Given the description of an element on the screen output the (x, y) to click on. 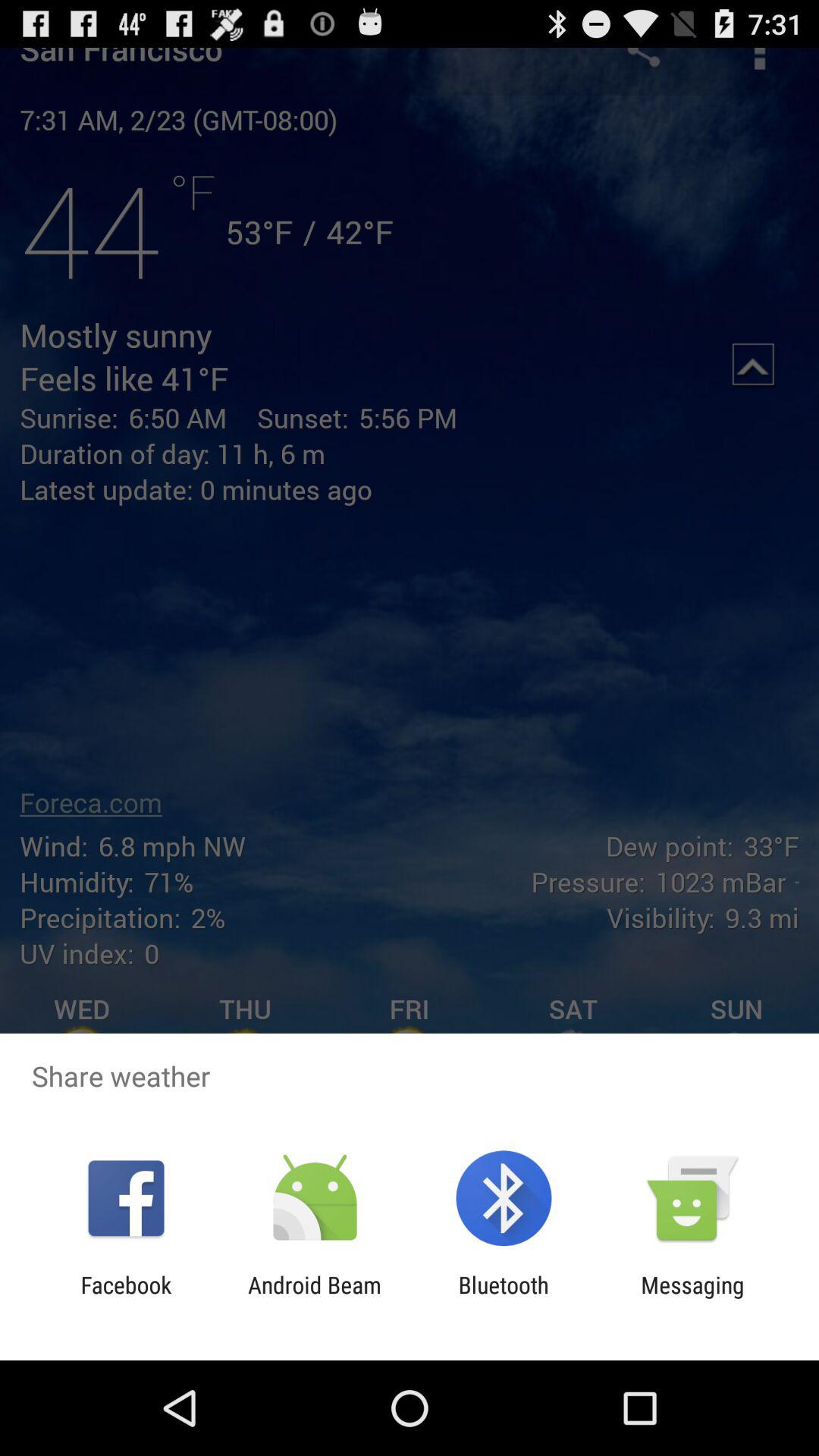
swipe until the android beam icon (314, 1298)
